Given the description of an element on the screen output the (x, y) to click on. 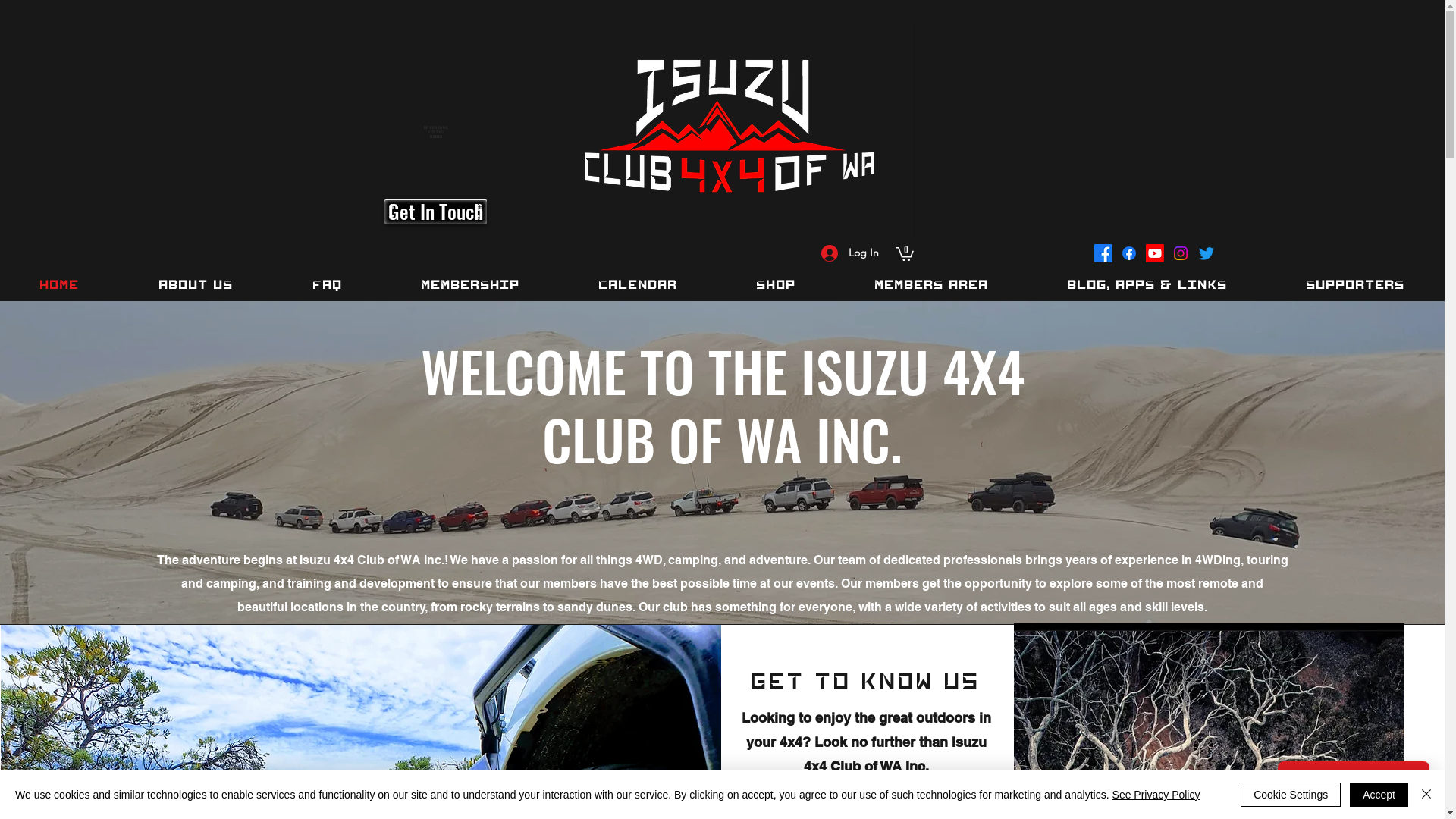
Shop Element type: text (776, 285)
Members Area Element type: text (931, 285)
Cookie Settings Element type: text (1290, 794)
Get In Touch Element type: text (434, 211)
Blog, Apps & Links Element type: text (1147, 285)
Home Element type: text (59, 285)
Accept Element type: text (1378, 794)
FAQ Element type: text (327, 285)
See Privacy Policy Element type: text (1156, 794)
Log In Element type: text (848, 253)
0 Element type: text (903, 252)
About us Element type: text (196, 285)
Supporters Element type: text (1355, 285)
Membership Element type: text (470, 285)
Calendar Element type: text (638, 285)
